Given the description of an element on the screen output the (x, y) to click on. 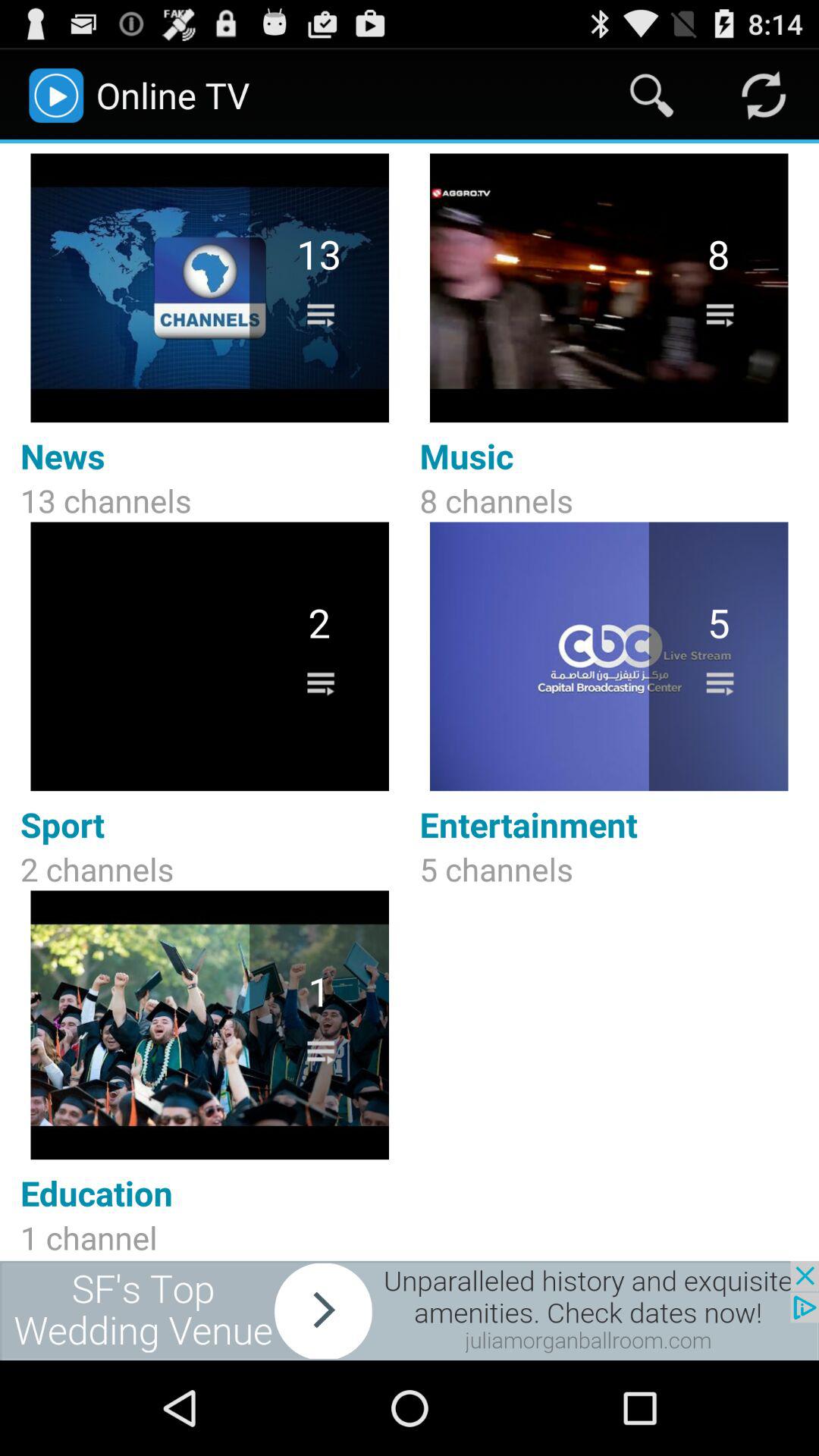
go to search botten (651, 95)
